Given the description of an element on the screen output the (x, y) to click on. 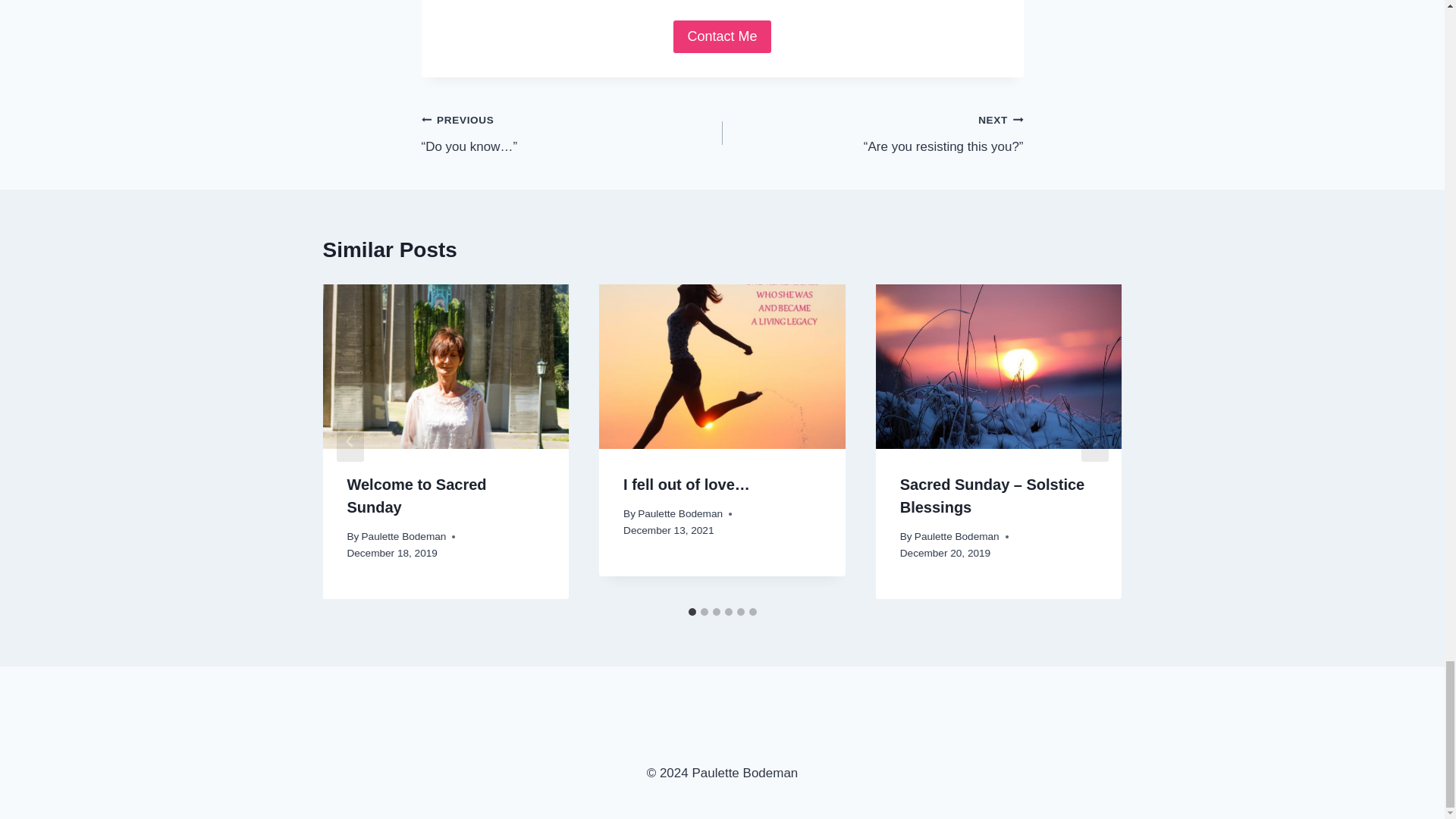
Contact Me (721, 36)
